Given the description of an element on the screen output the (x, y) to click on. 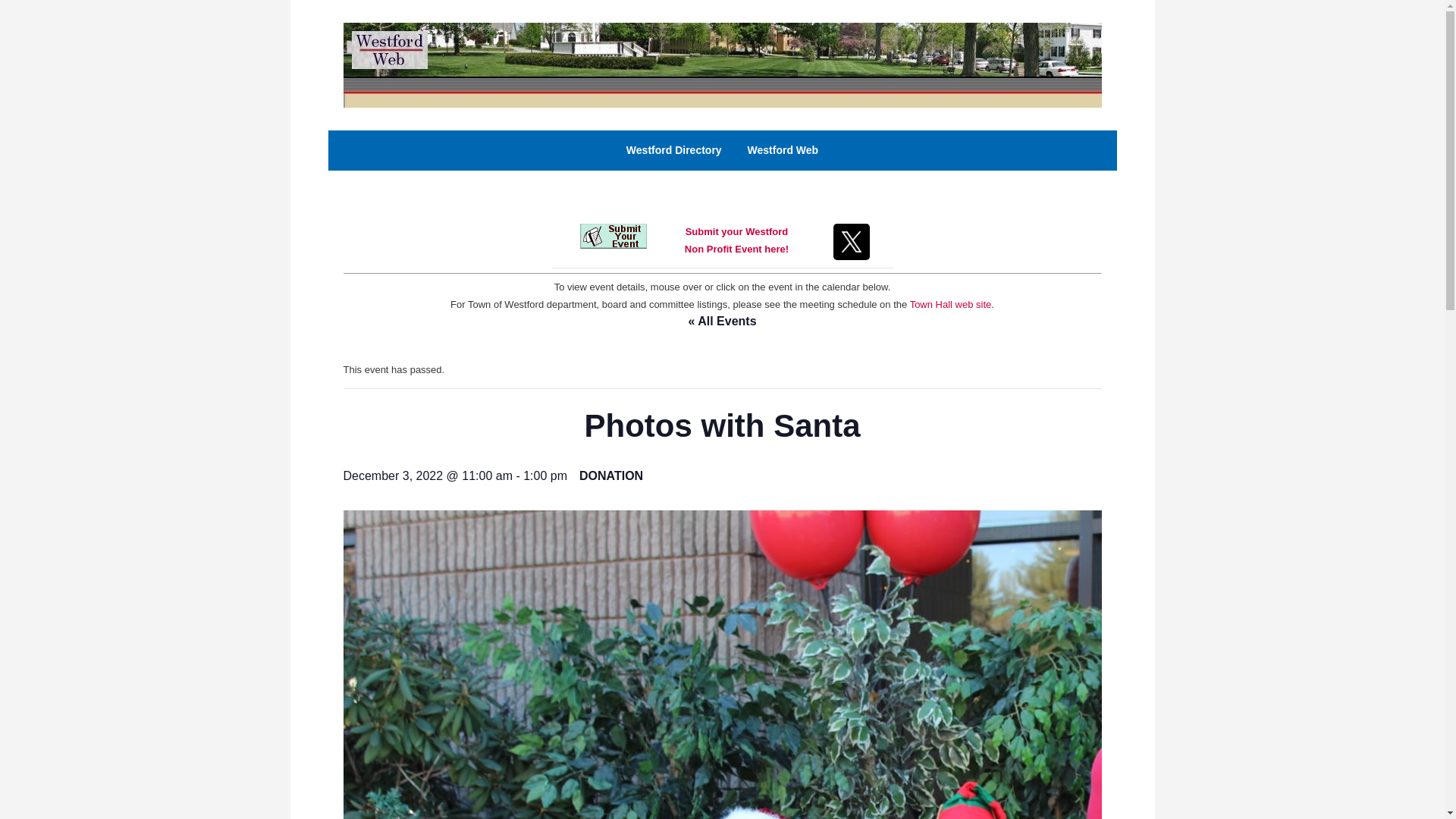
Westford Directory (674, 150)
Listing events for Westford, MA only non profit groups (721, 63)
Westford Web (783, 150)
Town Hall web site (950, 304)
